Given the description of an element on the screen output the (x, y) to click on. 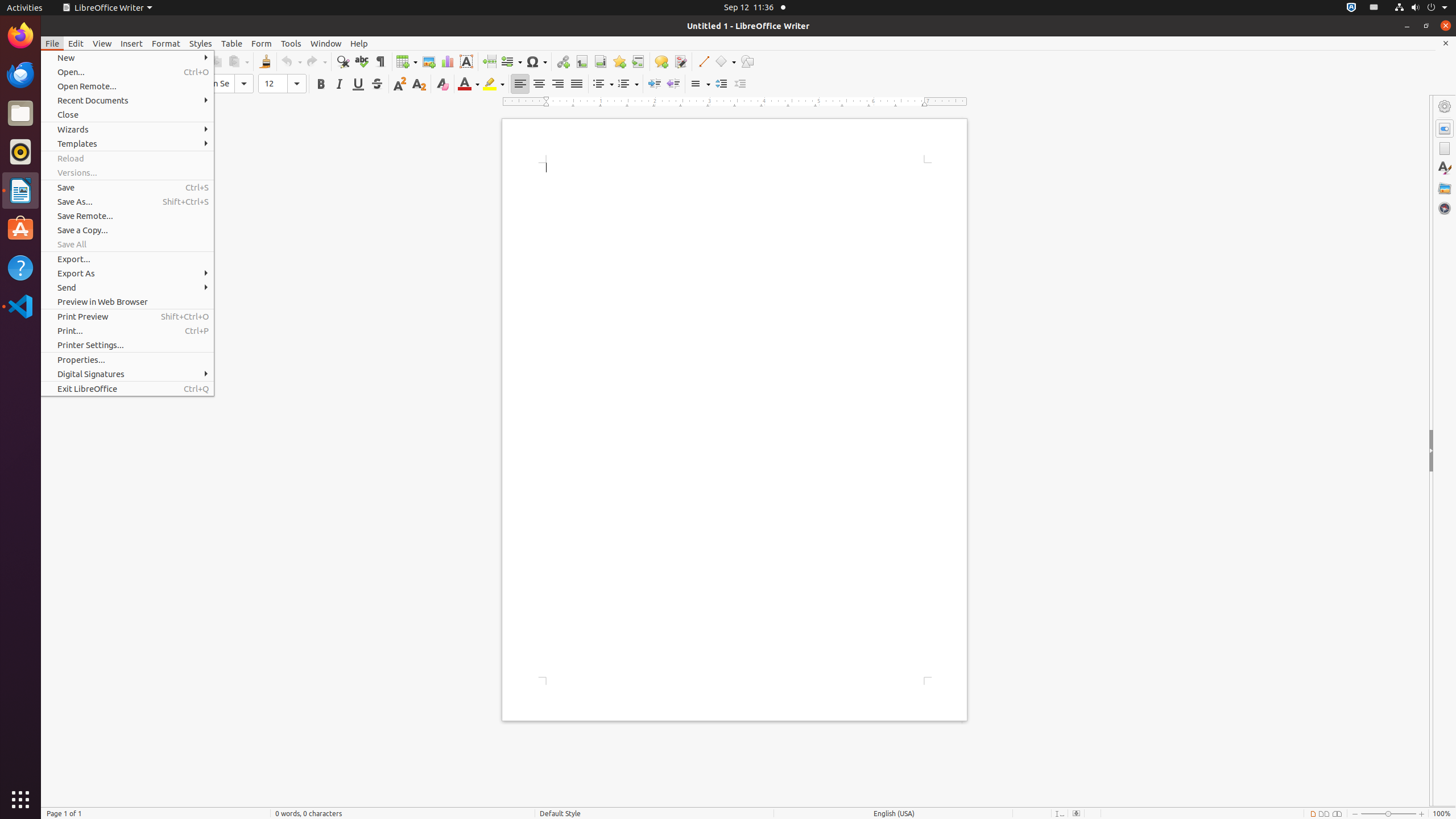
org.kde.StatusNotifierItem-14077-1 Element type: menu (1373, 7)
Properties Element type: radio-button (1444, 128)
Cross-reference Element type: push-button (637, 61)
Page Break Element type: push-button (489, 61)
Export As Element type: menu (126, 273)
